Given the description of an element on the screen output the (x, y) to click on. 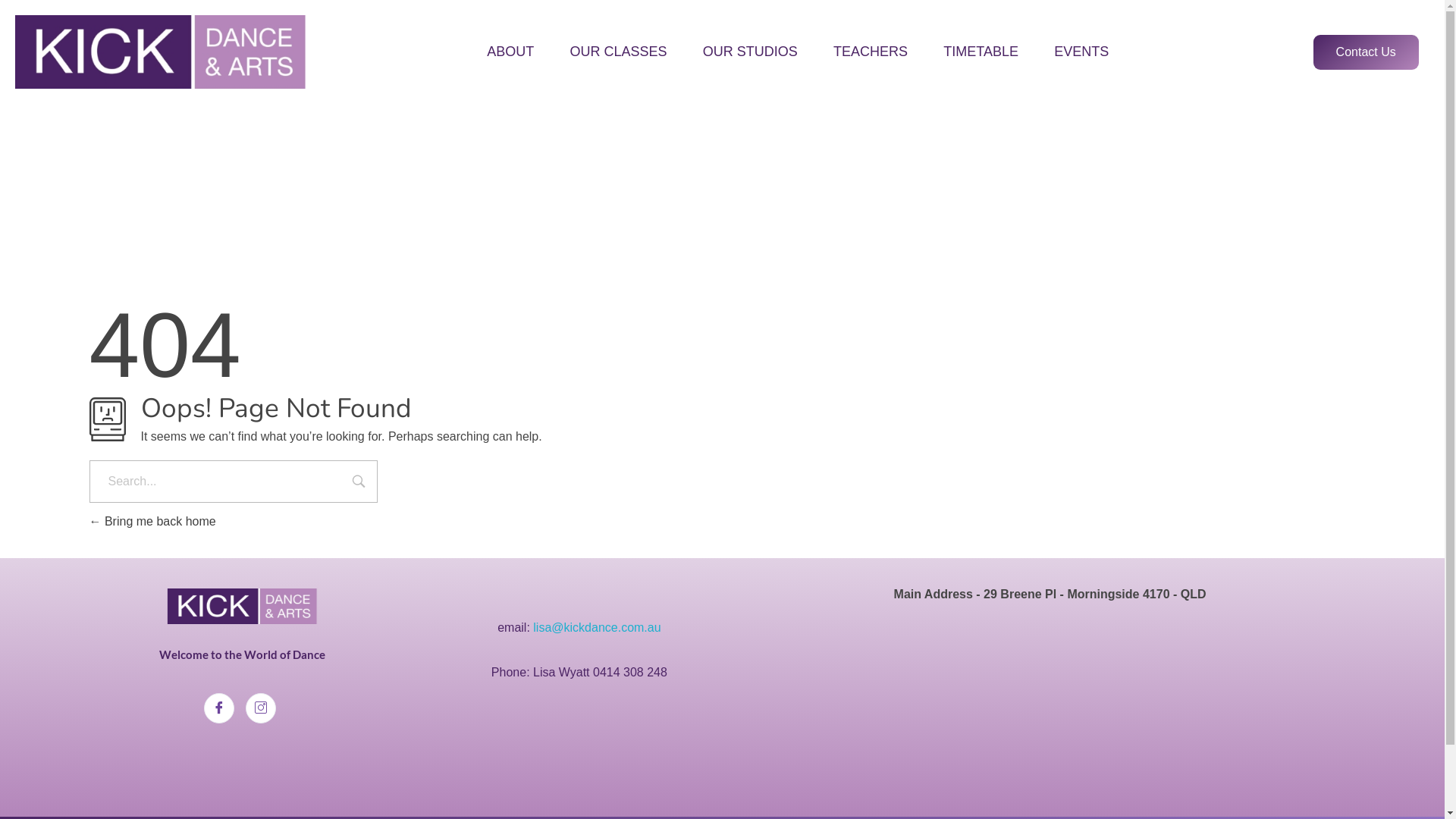
OUR STUDIOS Element type: text (749, 51)
TIMETABLE Element type: text (980, 51)
EVENTS Element type: text (1072, 51)
OUR CLASSES Element type: text (618, 51)
lisa@kickdance.com.au Element type: text (596, 626)
Search Element type: text (357, 482)
Bring me back home Element type: text (152, 520)
ABOUT Element type: text (510, 51)
Contact Us Element type: text (1365, 51)
29 Breene Pl Element type: hover (1049, 701)
TEACHERS Element type: text (870, 51)
